Given the description of an element on the screen output the (x, y) to click on. 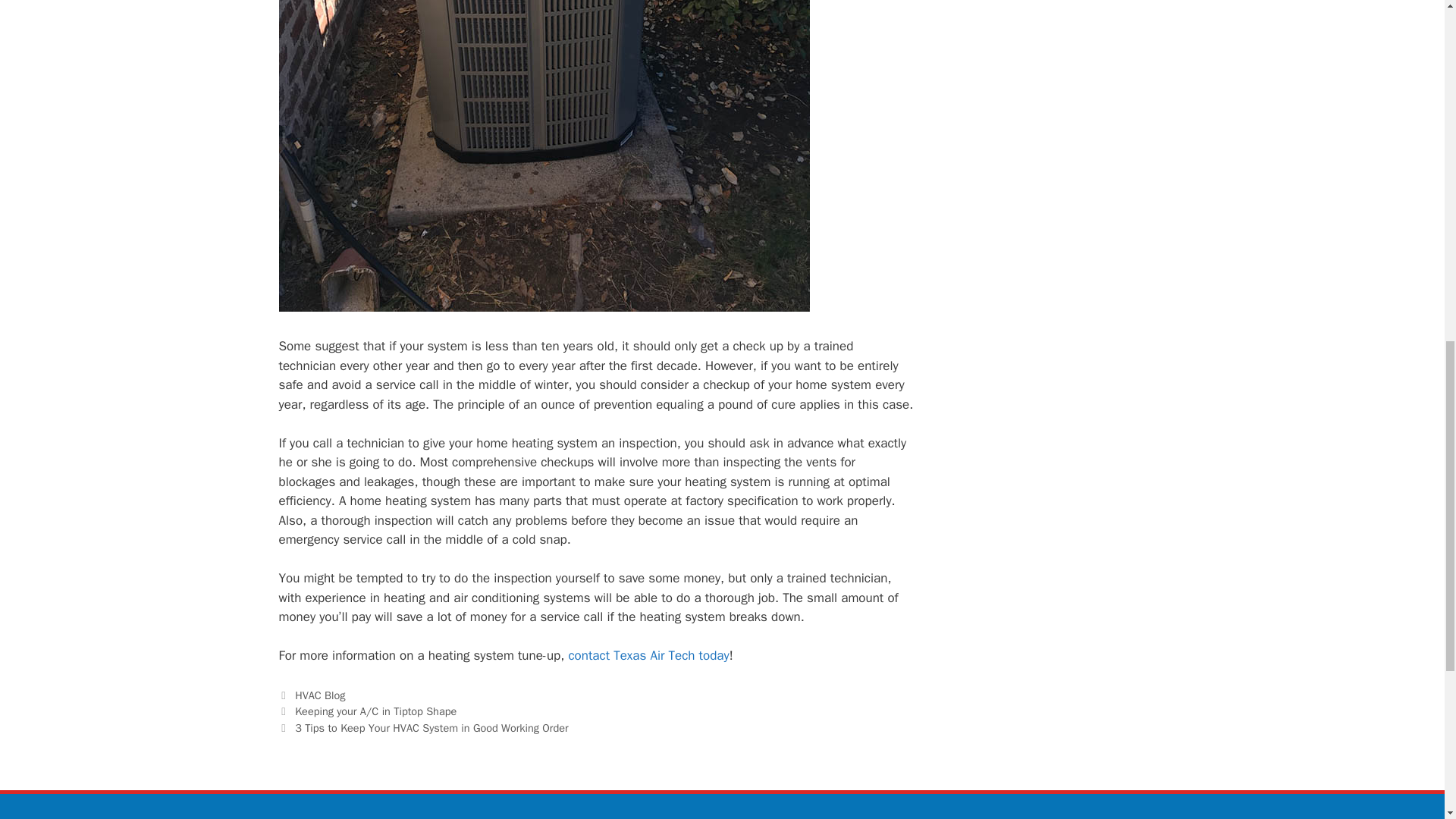
contact Texas Air Tech today (648, 655)
3 Tips to Keep Your HVAC System in Good Working Order (431, 727)
Previous (368, 711)
Next (424, 727)
HVAC Blog (320, 694)
